Given the description of an element on the screen output the (x, y) to click on. 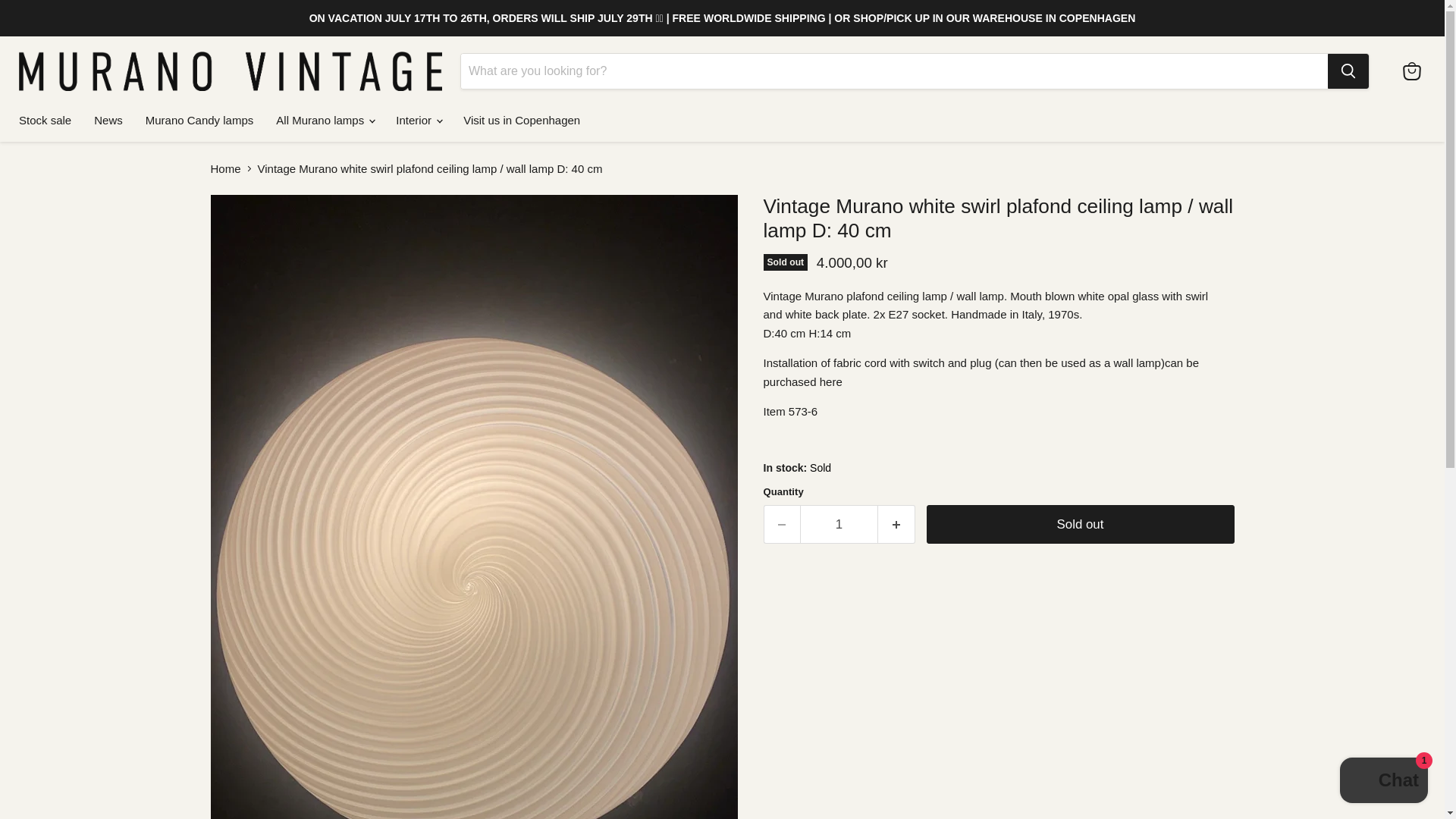
Shopify online store chat (1383, 781)
Murano Candy lamps (198, 119)
1 (838, 524)
View cart (1411, 70)
News (107, 119)
Stock sale (44, 119)
